Given the description of an element on the screen output the (x, y) to click on. 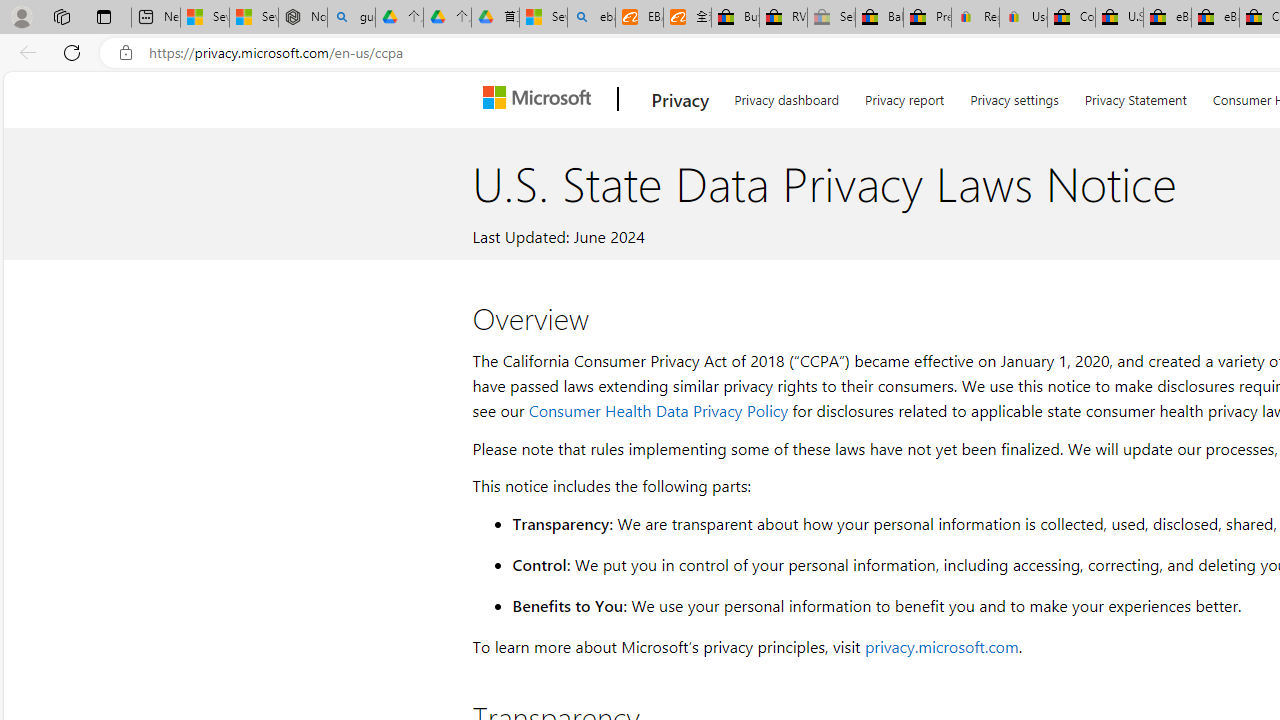
Privacy dashboard (786, 96)
Privacy report (904, 96)
User Privacy Notice | eBay (1023, 17)
Privacy report (904, 96)
Buy Auto Parts & Accessories | eBay (735, 17)
Baby Keepsakes & Announcements for sale | eBay (879, 17)
